Given the description of an element on the screen output the (x, y) to click on. 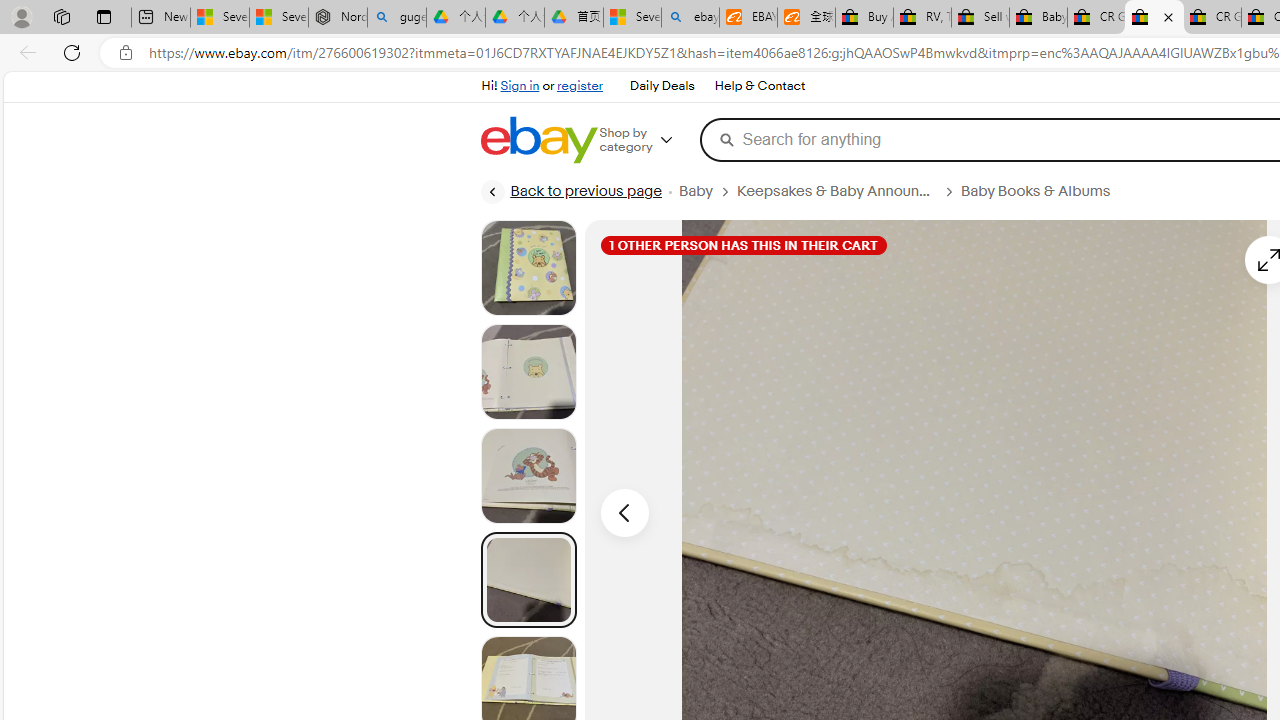
ebay - Search (690, 17)
